Given the description of an element on the screen output the (x, y) to click on. 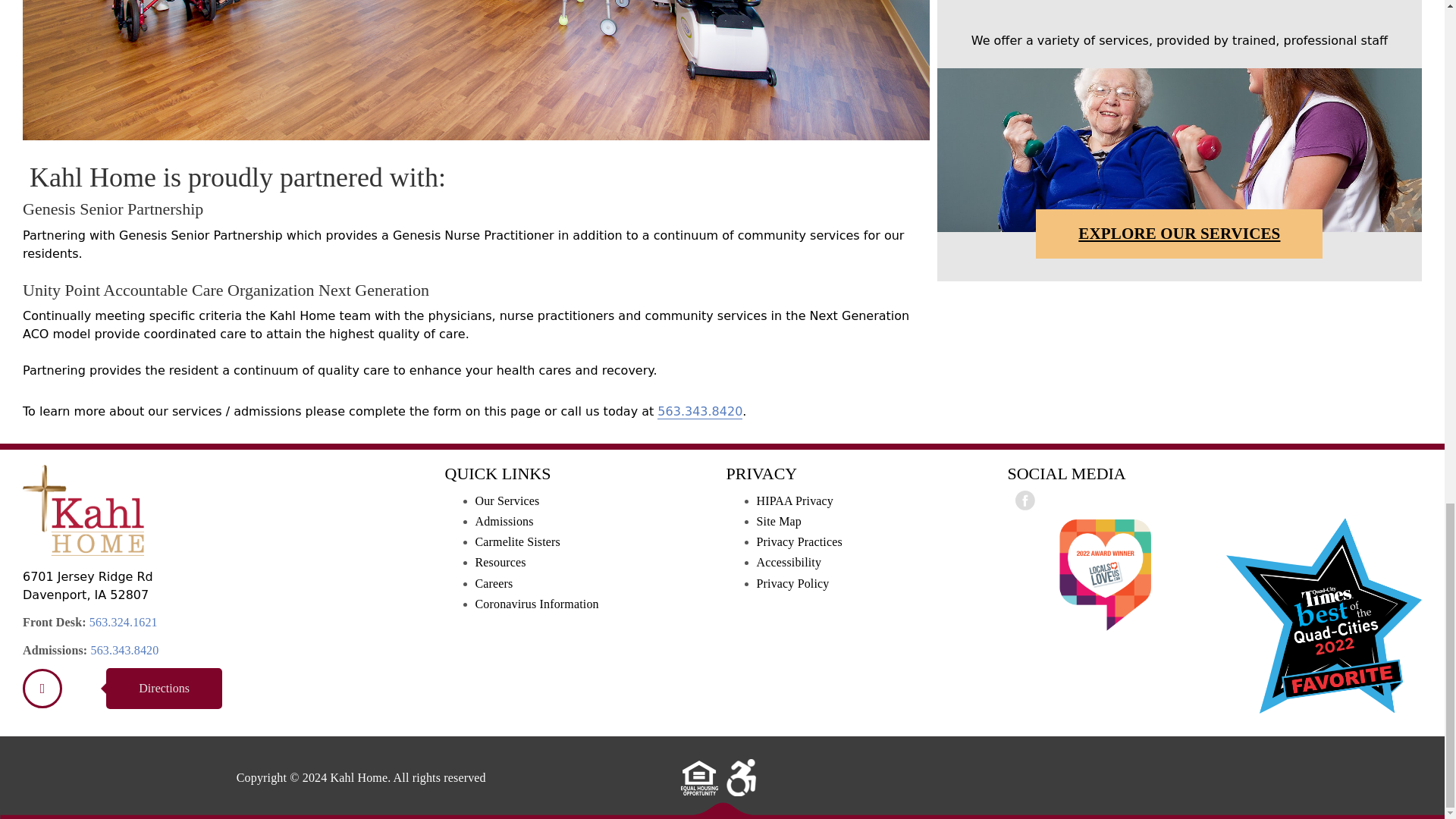
Kahl Home (42, 688)
Kahl Home Driving Directions (164, 688)
